Given the description of an element on the screen output the (x, y) to click on. 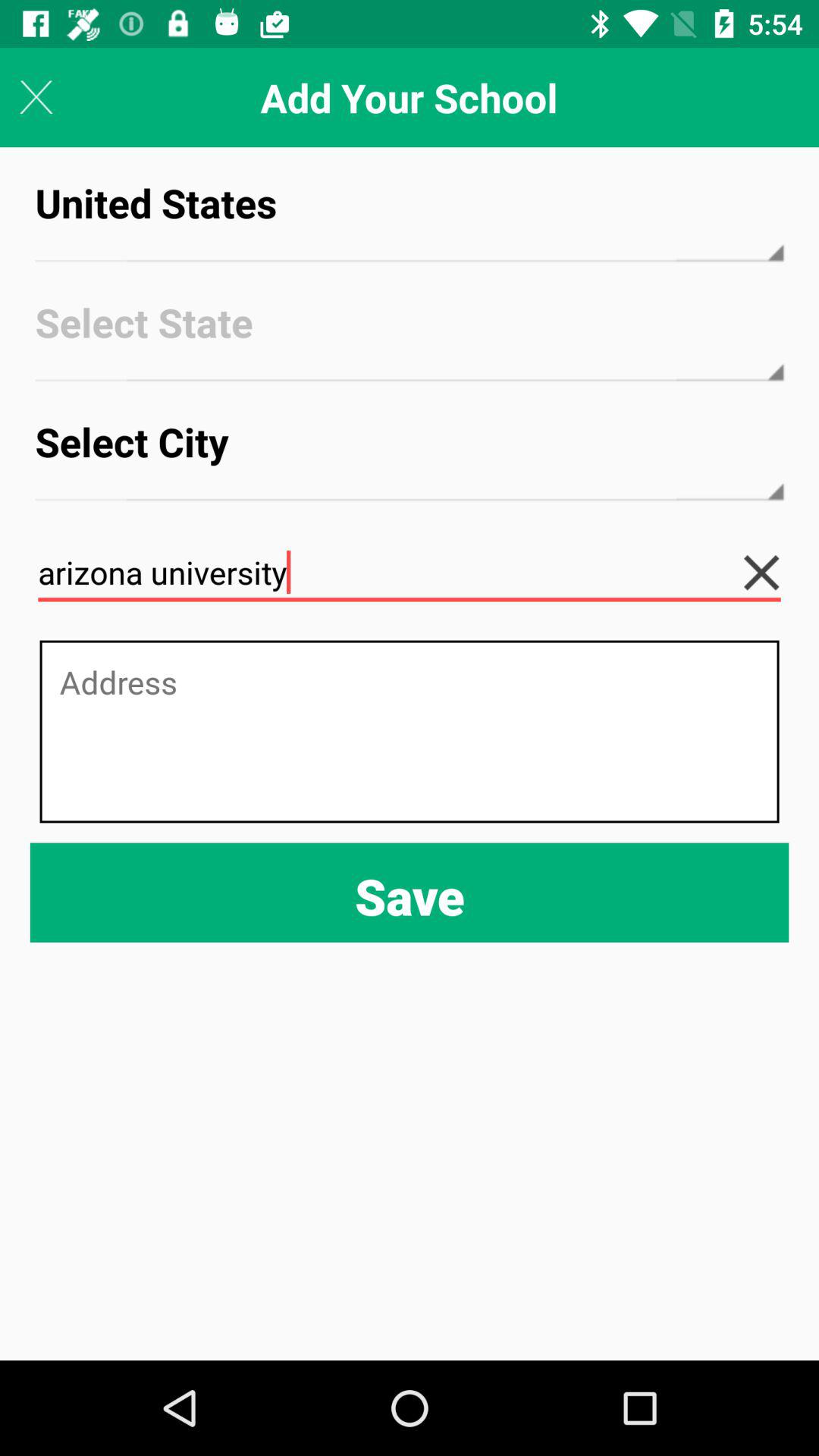
tap the select city (409, 455)
